Given the description of an element on the screen output the (x, y) to click on. 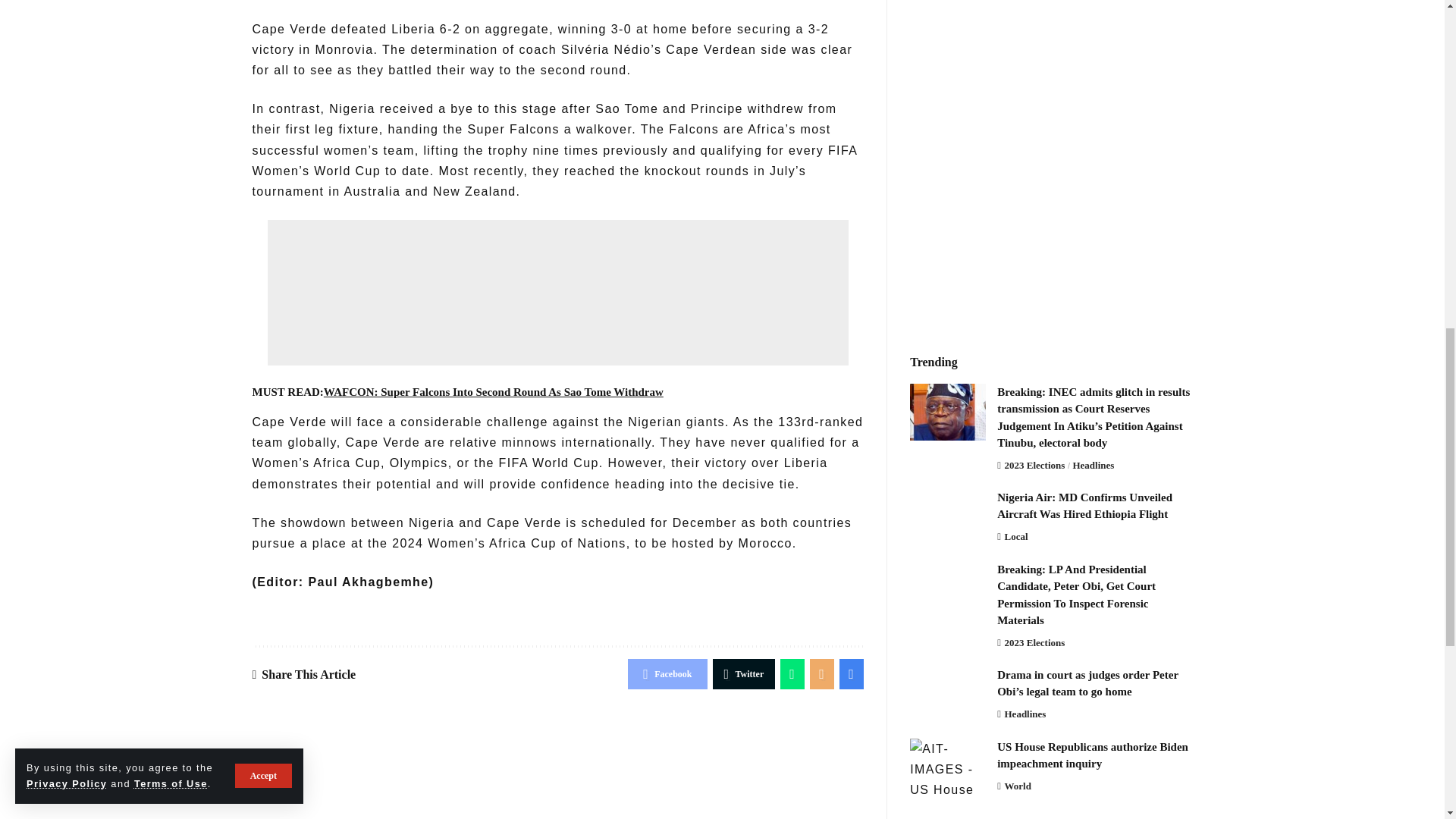
Facebook (666, 674)
Twitter (744, 674)
US House Republicans authorize Biden impeachment inquiry (947, 766)
WAFCON: Super Falcons Into Second Round As Sao Tome Withdraw (493, 391)
